Given the description of an element on the screen output the (x, y) to click on. 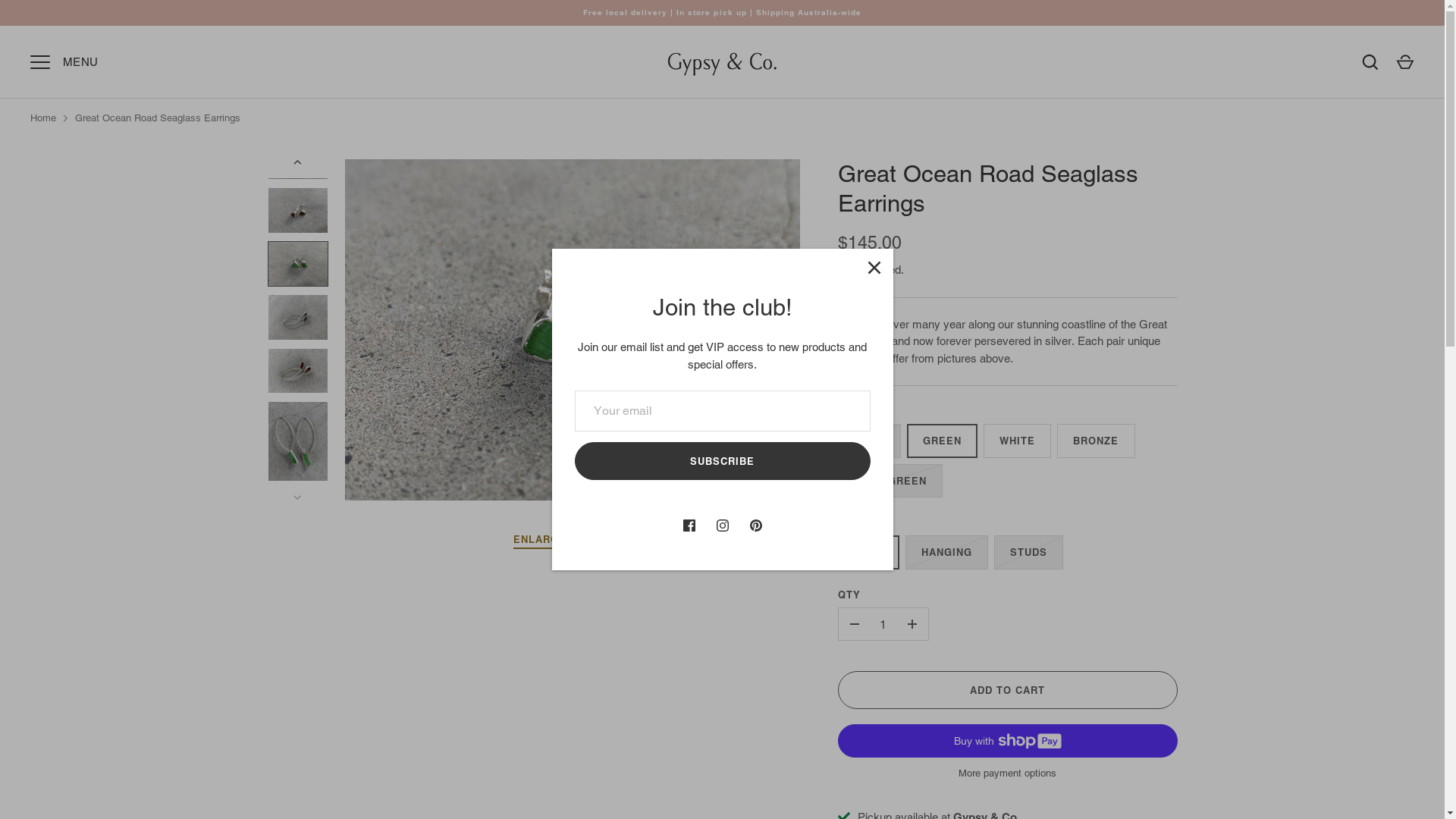
SUBSCRIBE Element type: text (722, 461)
+ Element type: text (912, 624)
Home Element type: text (43, 117)
ENLARGE ALL MEDIA Element type: text (572, 540)
Great Ocean Road Seaglass Earrings Element type: text (157, 117)
- Element type: text (854, 624)
ADD TO CART Element type: text (1006, 690)
MENU Element type: text (39, 61)
More payment options Element type: text (1006, 772)
